Given the description of an element on the screen output the (x, y) to click on. 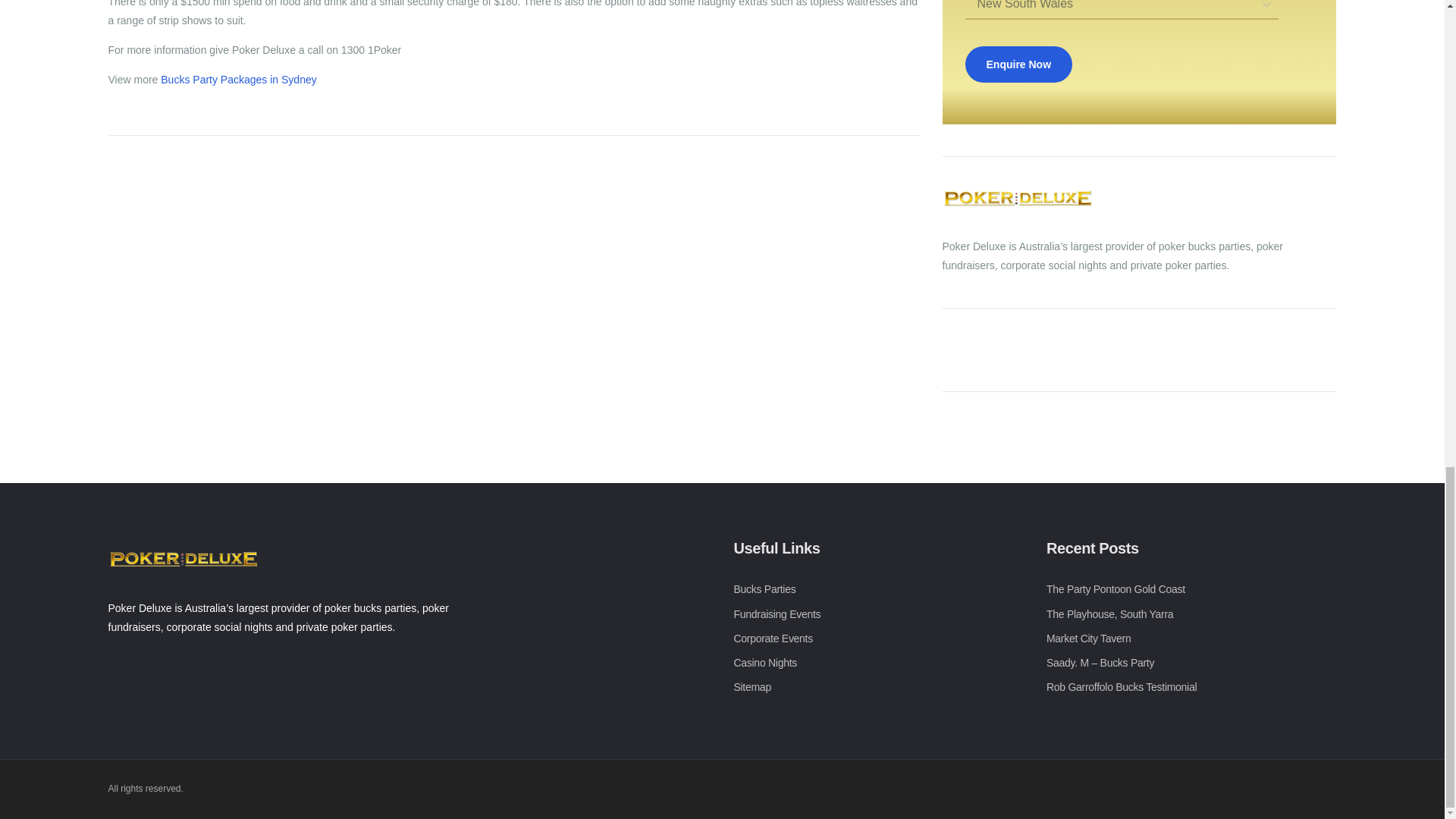
Enquire Now (1017, 63)
Poker Deluxe Logo (1017, 198)
